Given the description of an element on the screen output the (x, y) to click on. 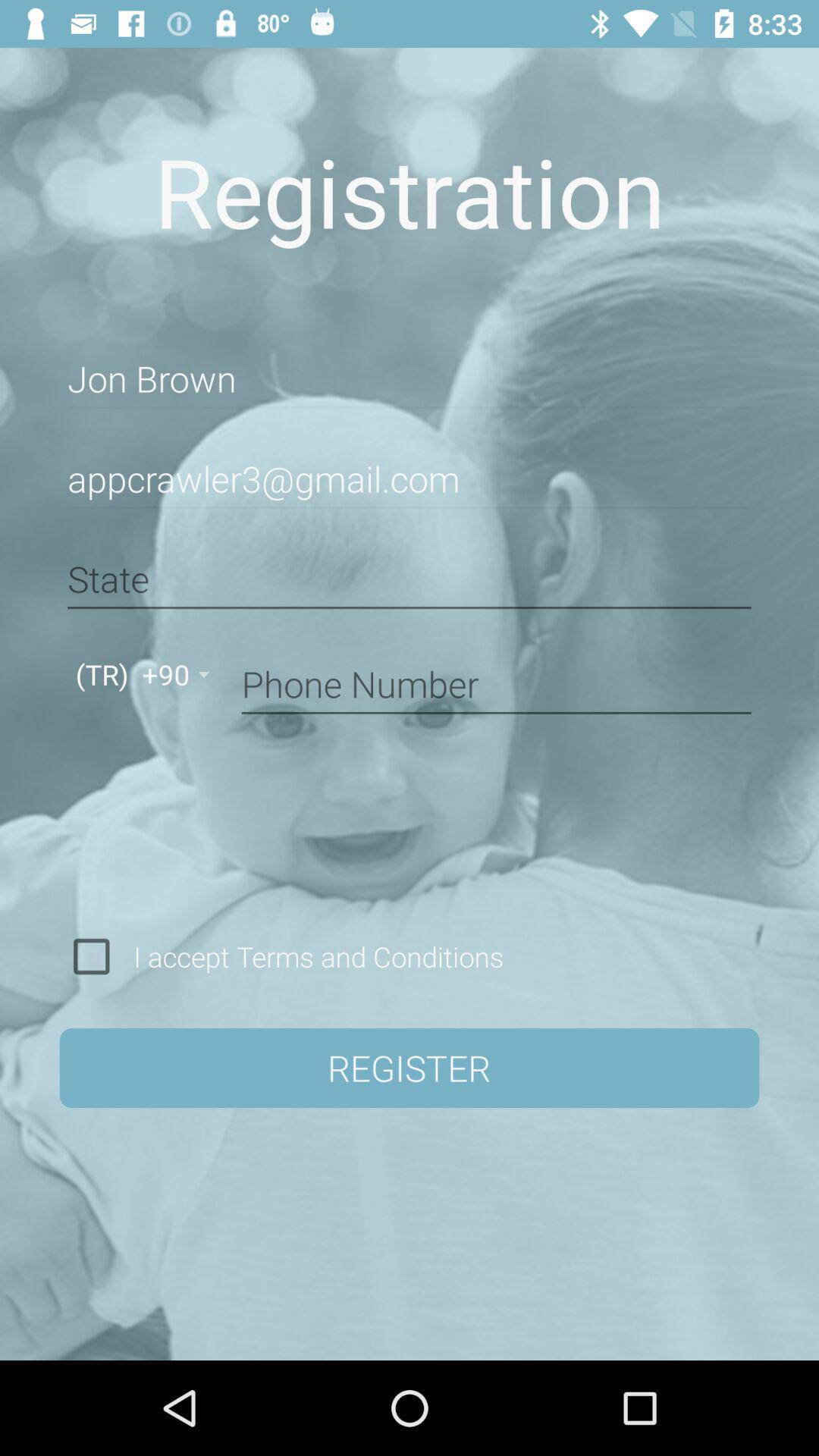
press i accept terms (313, 956)
